Given the description of an element on the screen output the (x, y) to click on. 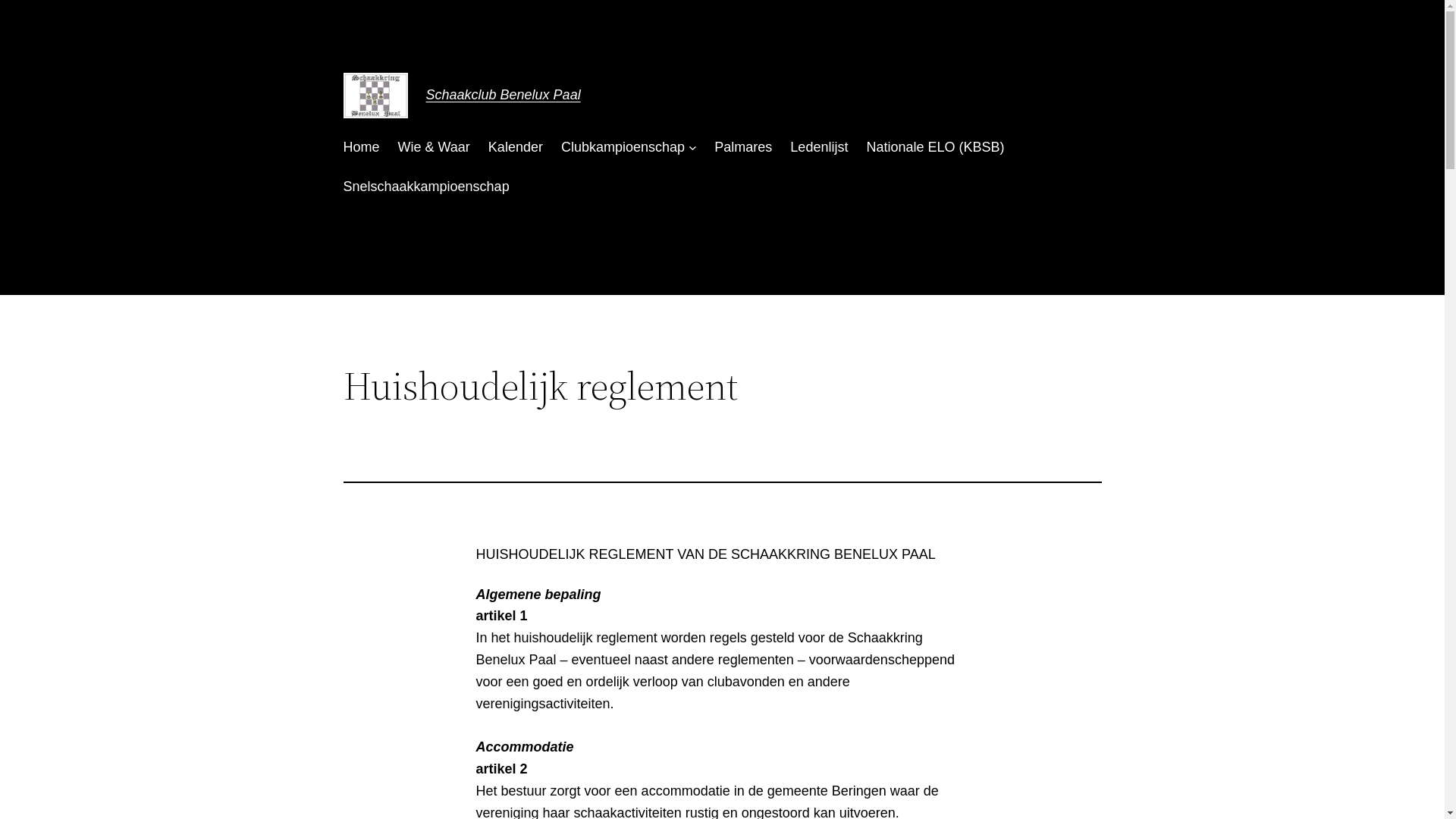
Ledenlijst Element type: text (818, 147)
Schaakclub Benelux Paal Element type: text (503, 94)
Snelschaakkampioenschap Element type: text (425, 186)
Home Element type: text (360, 147)
Clubkampioenschap Element type: text (622, 147)
Kalender Element type: text (515, 147)
Palmares Element type: text (742, 147)
Nationale ELO (KBSB) Element type: text (935, 147)
Wie & Waar Element type: text (434, 147)
